Given the description of an element on the screen output the (x, y) to click on. 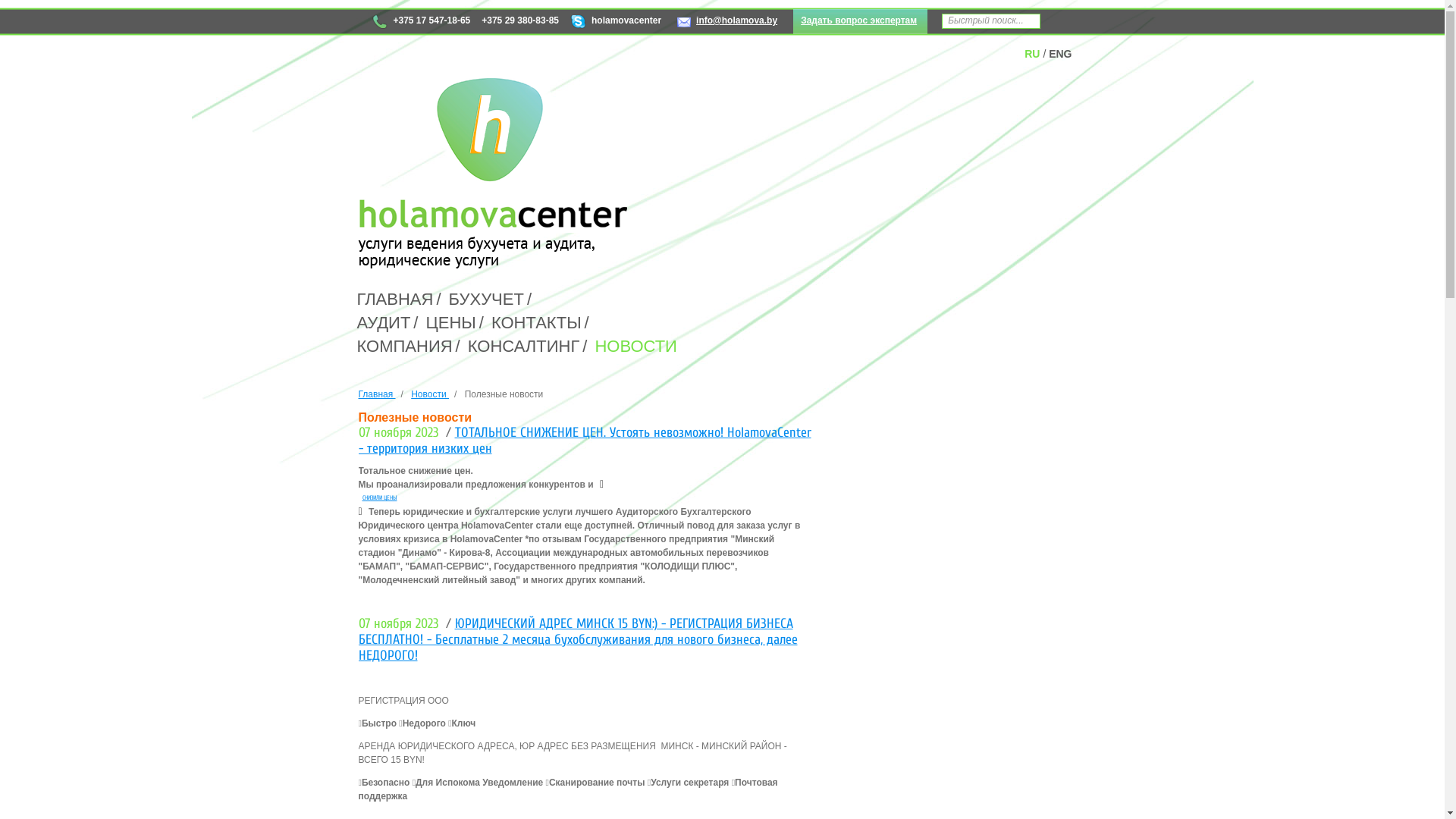
+375 29 380-83-85 Element type: text (519, 22)
info@holamova.by Element type: text (727, 22)
+375 17 547-18-65 Element type: text (420, 22)
ENG Element type: text (1059, 53)
holamovacenter Element type: text (615, 22)
RU Element type: text (1031, 53)
